Given the description of an element on the screen output the (x, y) to click on. 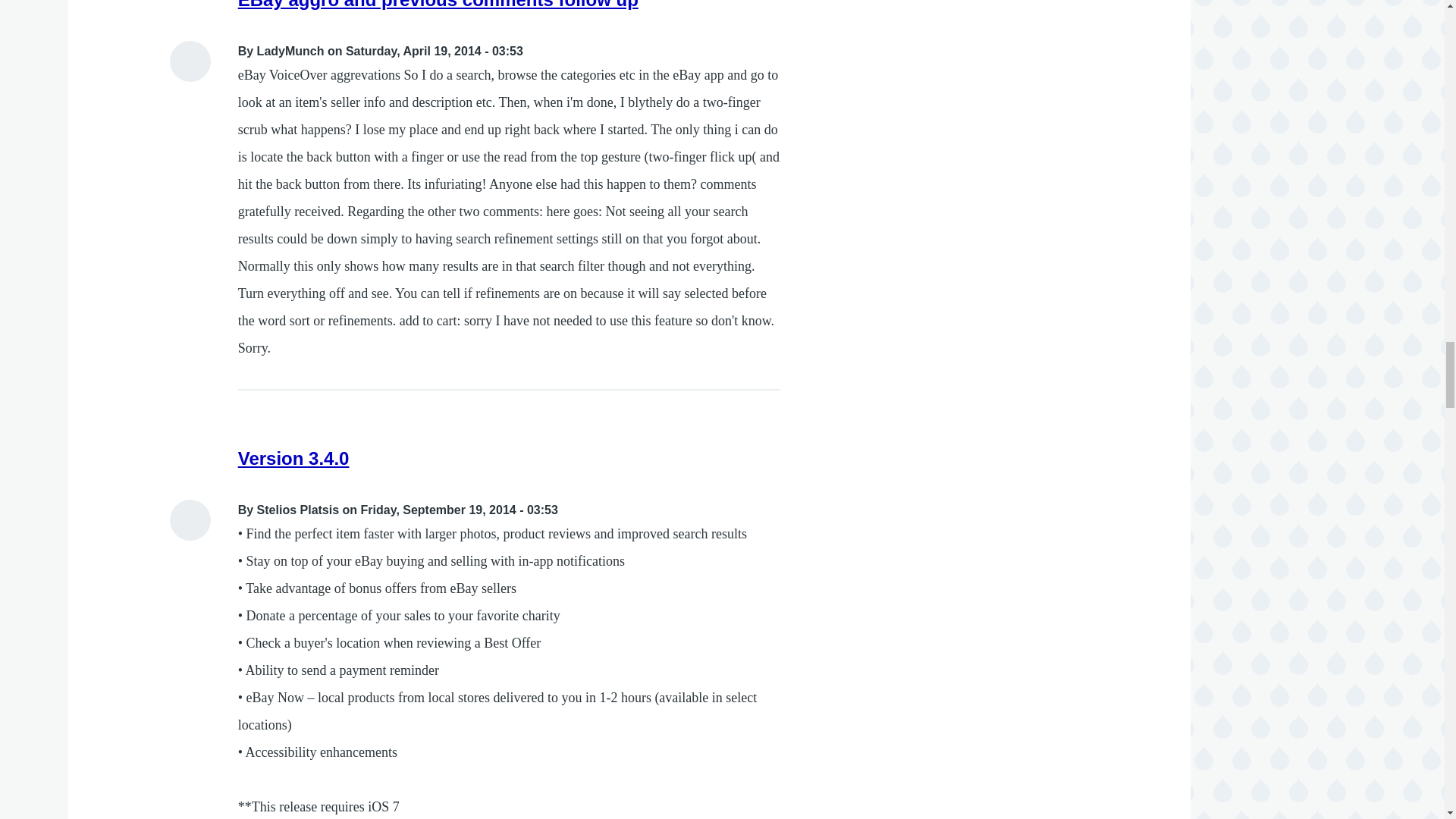
EBay aggro and previous comments follow up (438, 4)
Version 3.4.0 (293, 457)
